Given the description of an element on the screen output the (x, y) to click on. 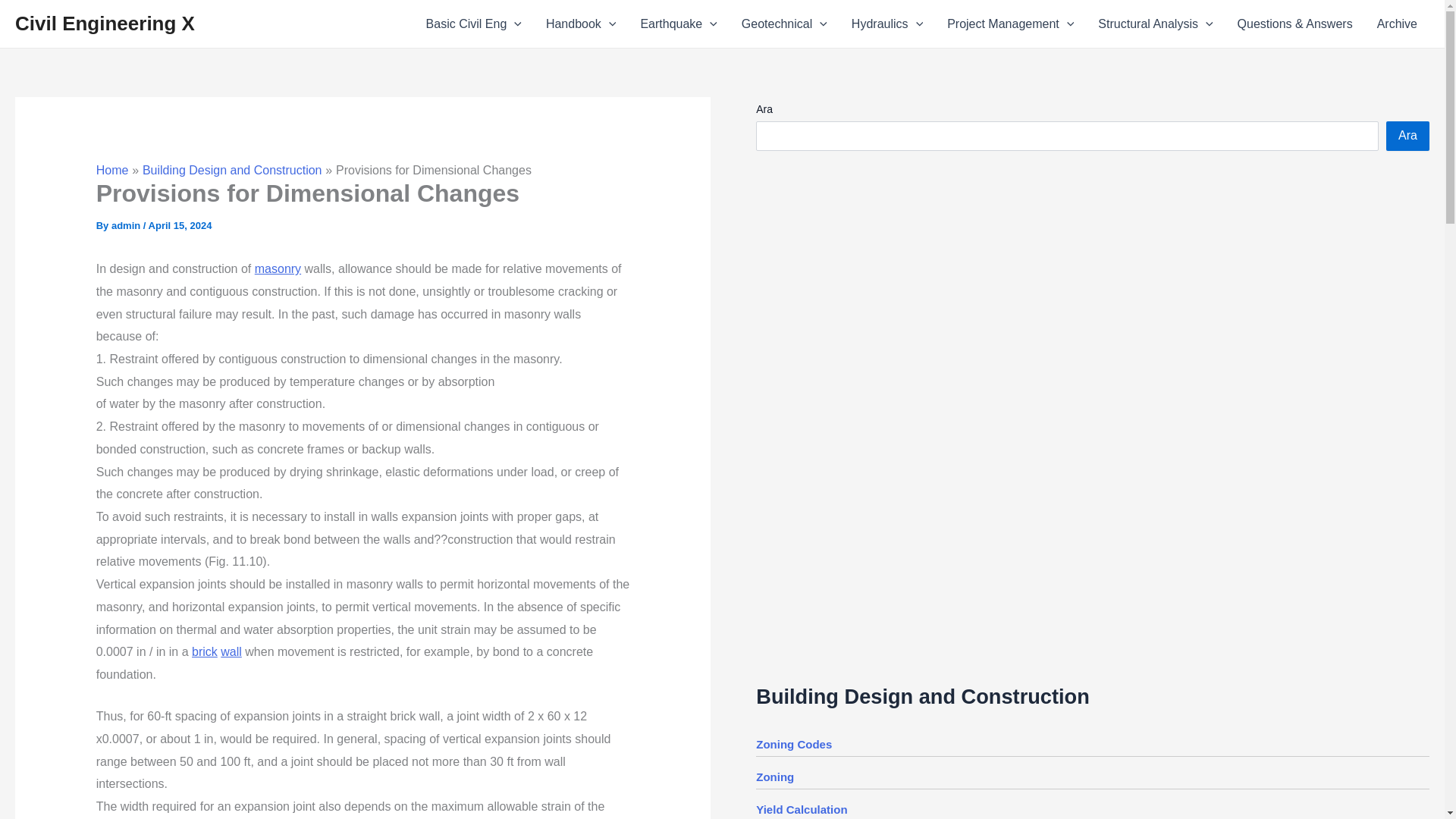
brick (204, 651)
wall (231, 651)
masonry (277, 268)
Civil Engineering X (104, 23)
Zoning (774, 776)
View all posts by admin (127, 225)
Basic Civil Eng (473, 23)
Handbook (581, 23)
Zoning Codes (793, 744)
